Given the description of an element on the screen output the (x, y) to click on. 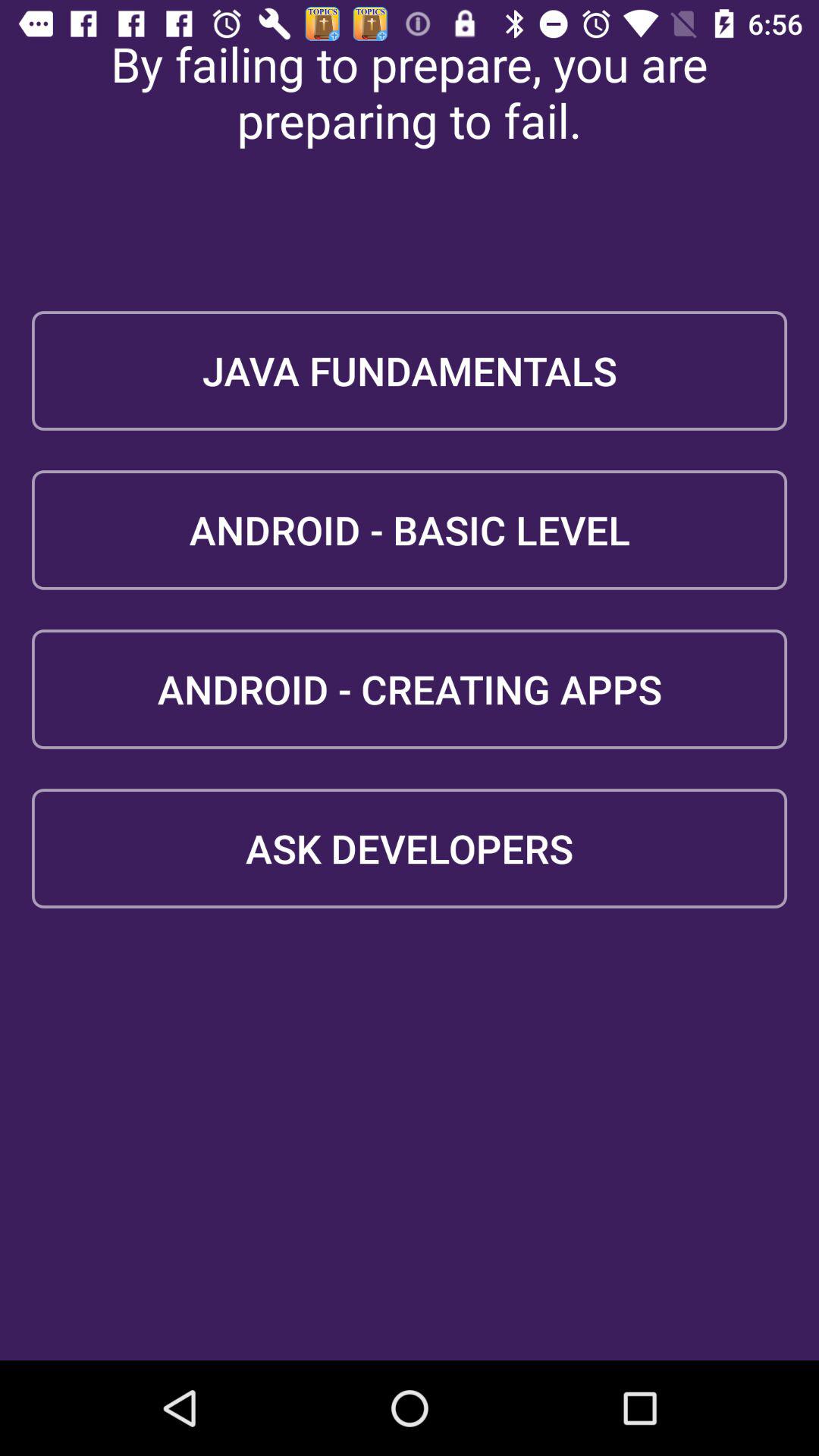
click the icon above the android - creating apps (409, 529)
